Given the description of an element on the screen output the (x, y) to click on. 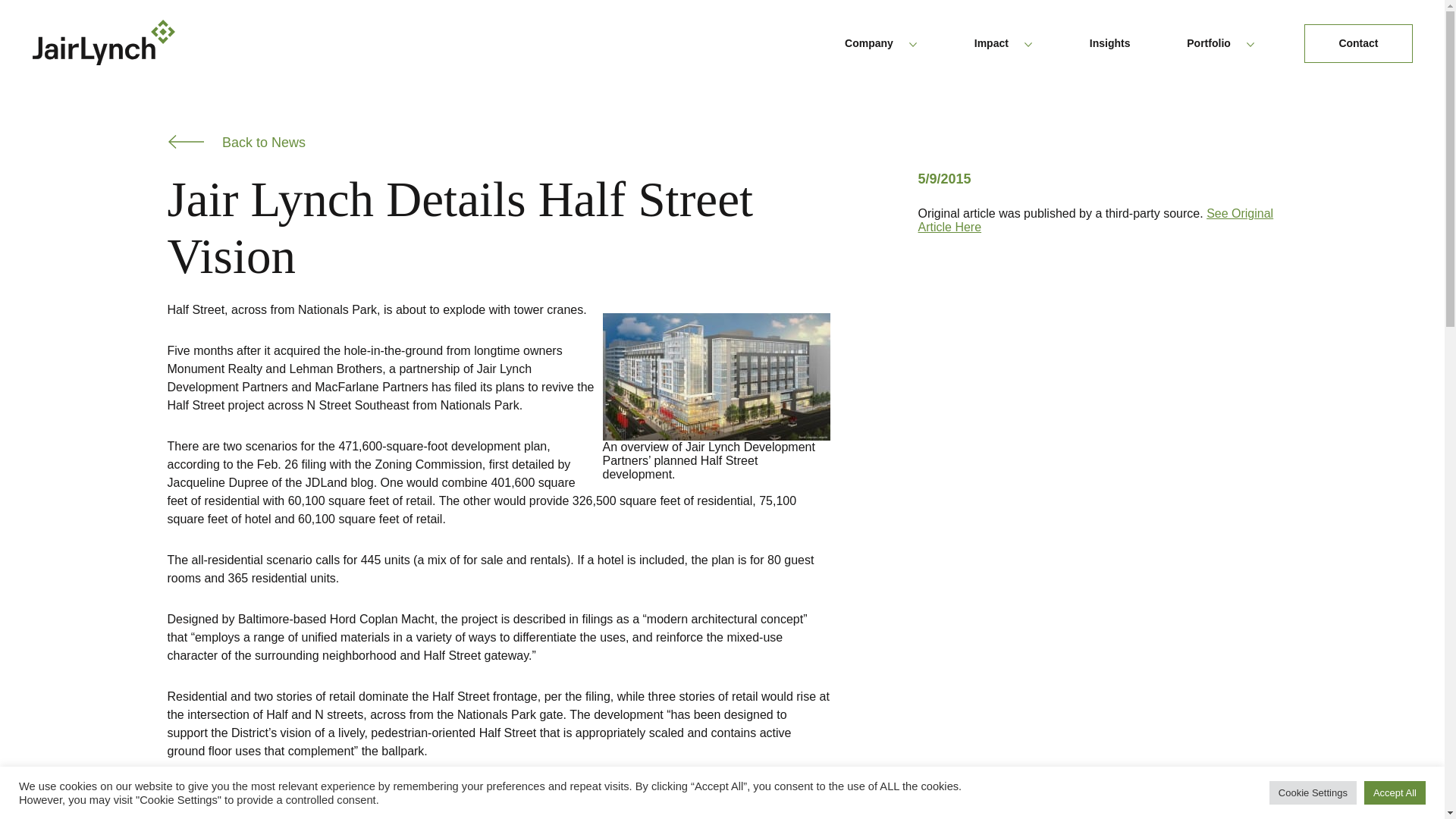
Portfolio (1220, 43)
Impact (1002, 43)
Jair Lynch (103, 42)
See Original Article Here (1094, 220)
Contact (1358, 43)
Back to News (236, 141)
Company (880, 43)
Insights (1109, 43)
